Given the description of an element on the screen output the (x, y) to click on. 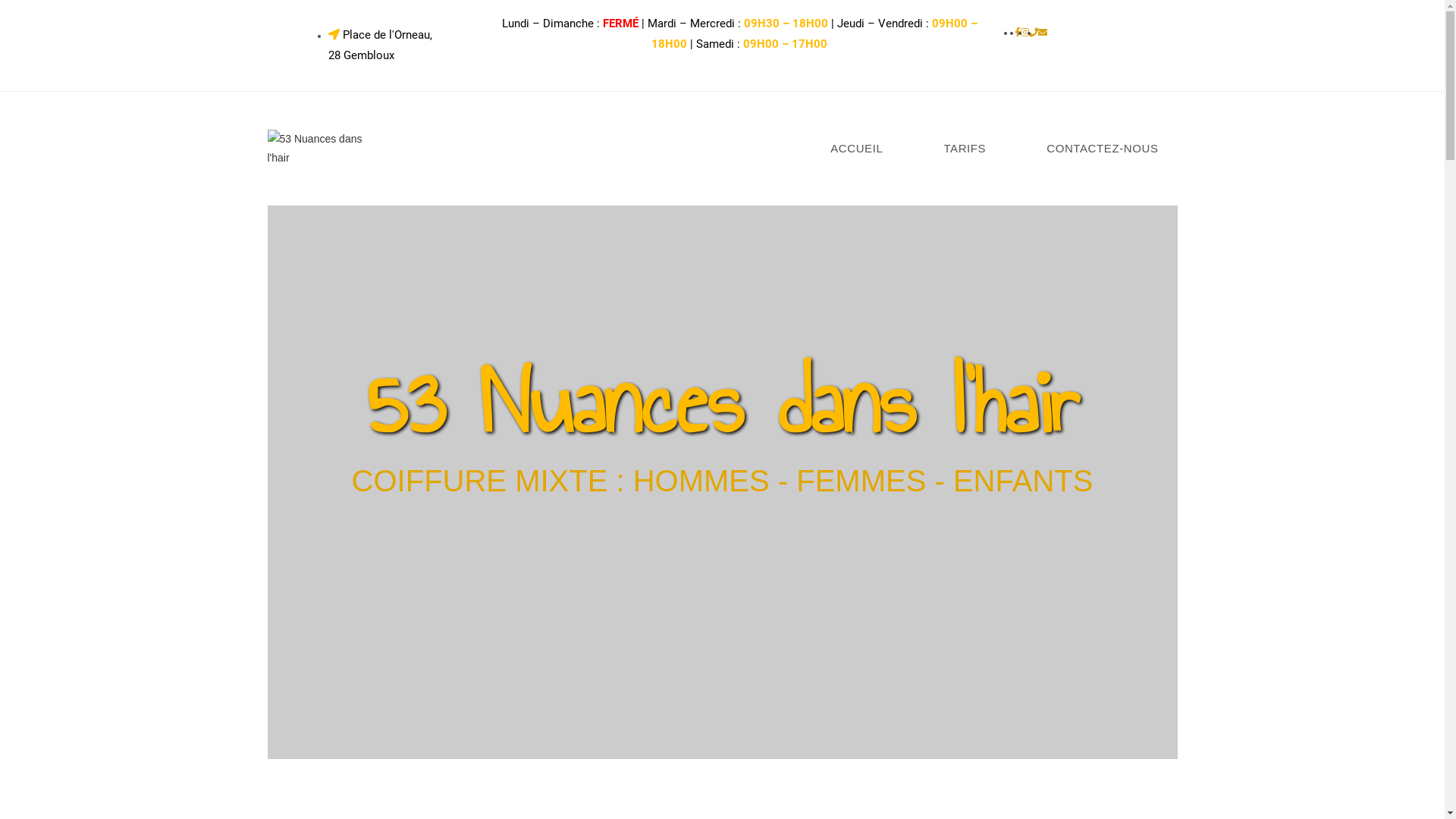
ACCUEIL Element type: text (856, 148)
CONTACTEZ-NOUS Element type: text (1102, 148)
TARIFS Element type: text (964, 148)
Place de l'Orneau, 28 Gembloux Element type: text (379, 45)
